Given the description of an element on the screen output the (x, y) to click on. 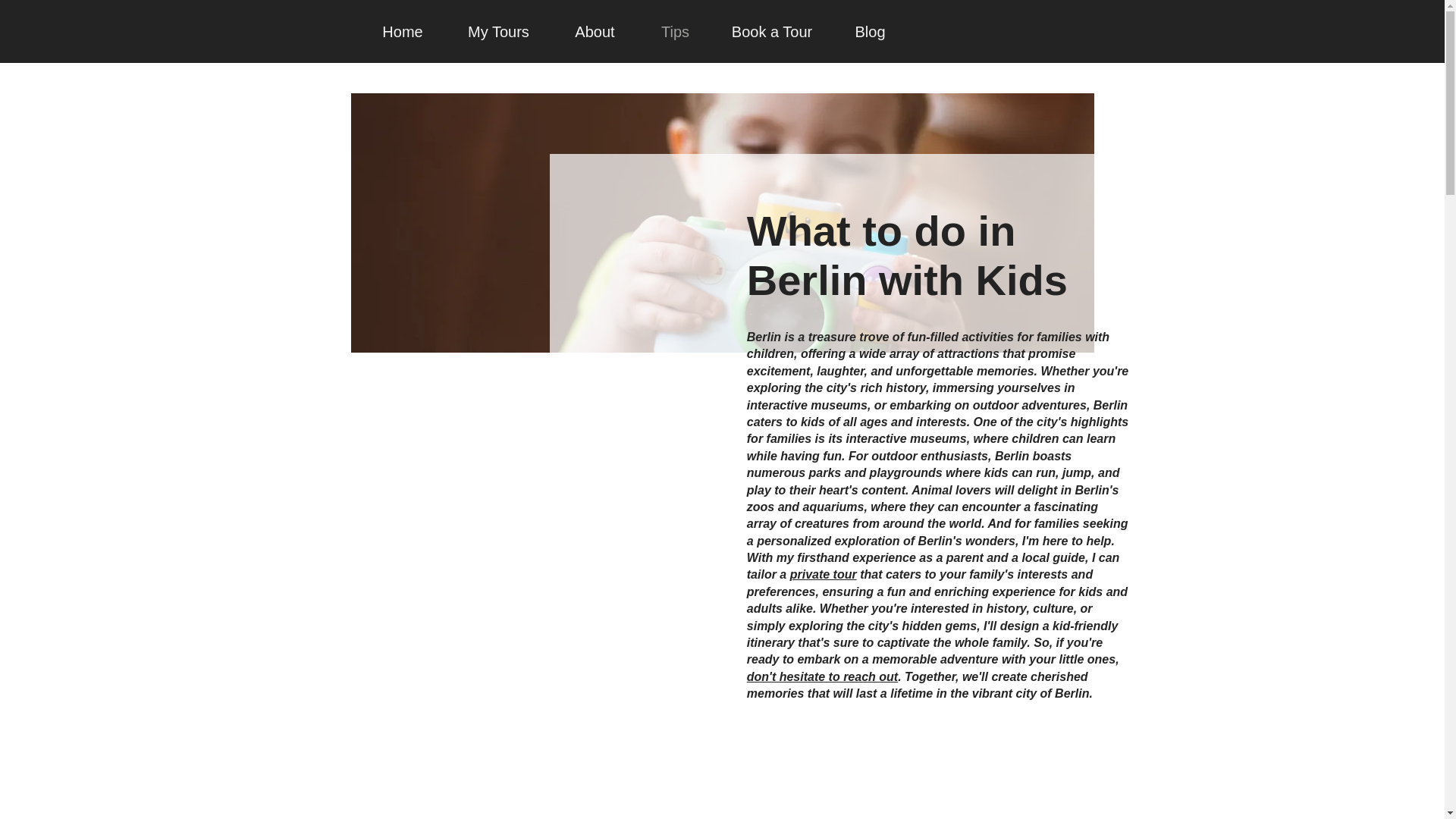
My Tours (497, 31)
Book a Tour (771, 31)
Home (402, 31)
About (594, 31)
don't hesitate to reach out (822, 676)
private tour (823, 574)
Blog (870, 31)
Tips (675, 31)
